Given the description of an element on the screen output the (x, y) to click on. 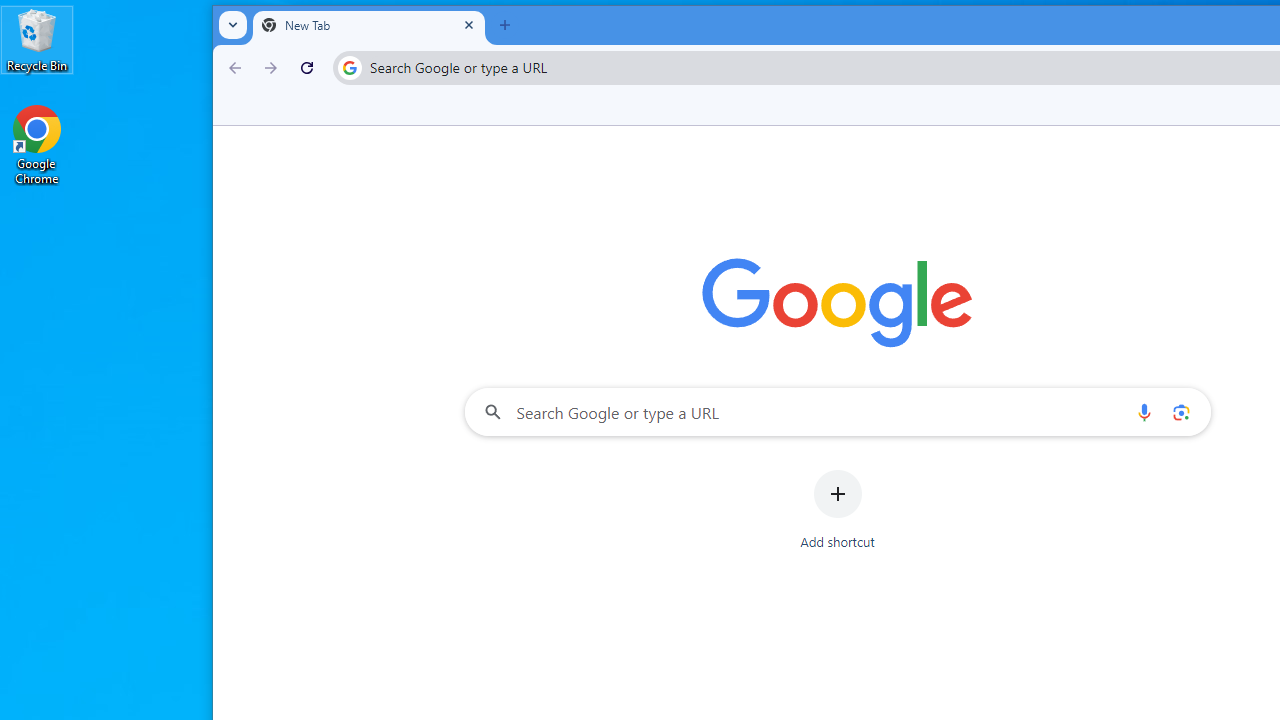
Google Chrome (37, 144)
Recycle Bin (37, 39)
